Given the description of an element on the screen output the (x, y) to click on. 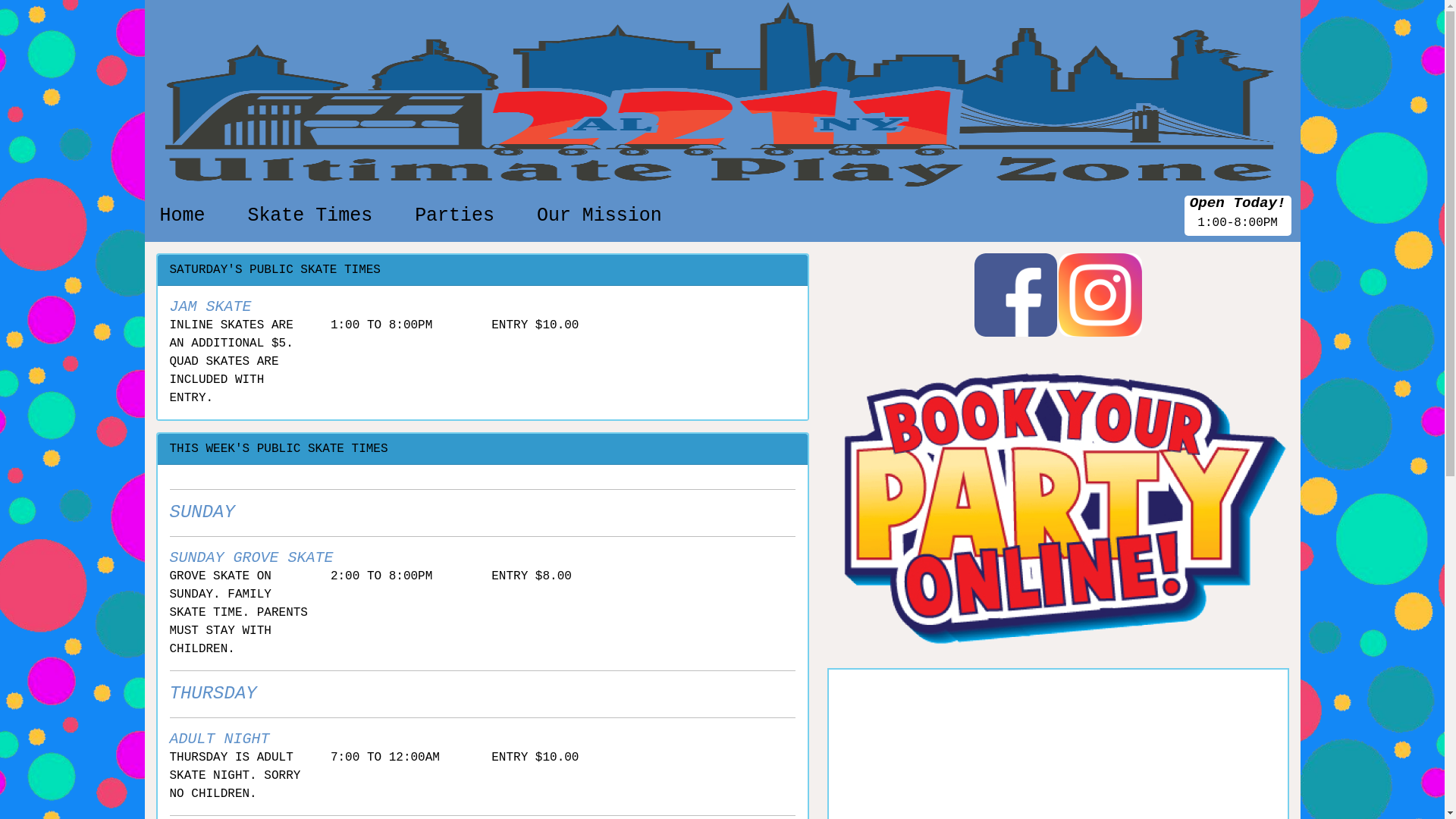
Open Today!
1:00-8:00PM Element type: text (1237, 215)
Parties Element type: text (454, 215)
Skate Times Element type: text (309, 215)
Our Mission Element type: text (599, 215)
Home Element type: text (181, 215)
Open Today! Element type: text (1237, 203)
